Given the description of an element on the screen output the (x, y) to click on. 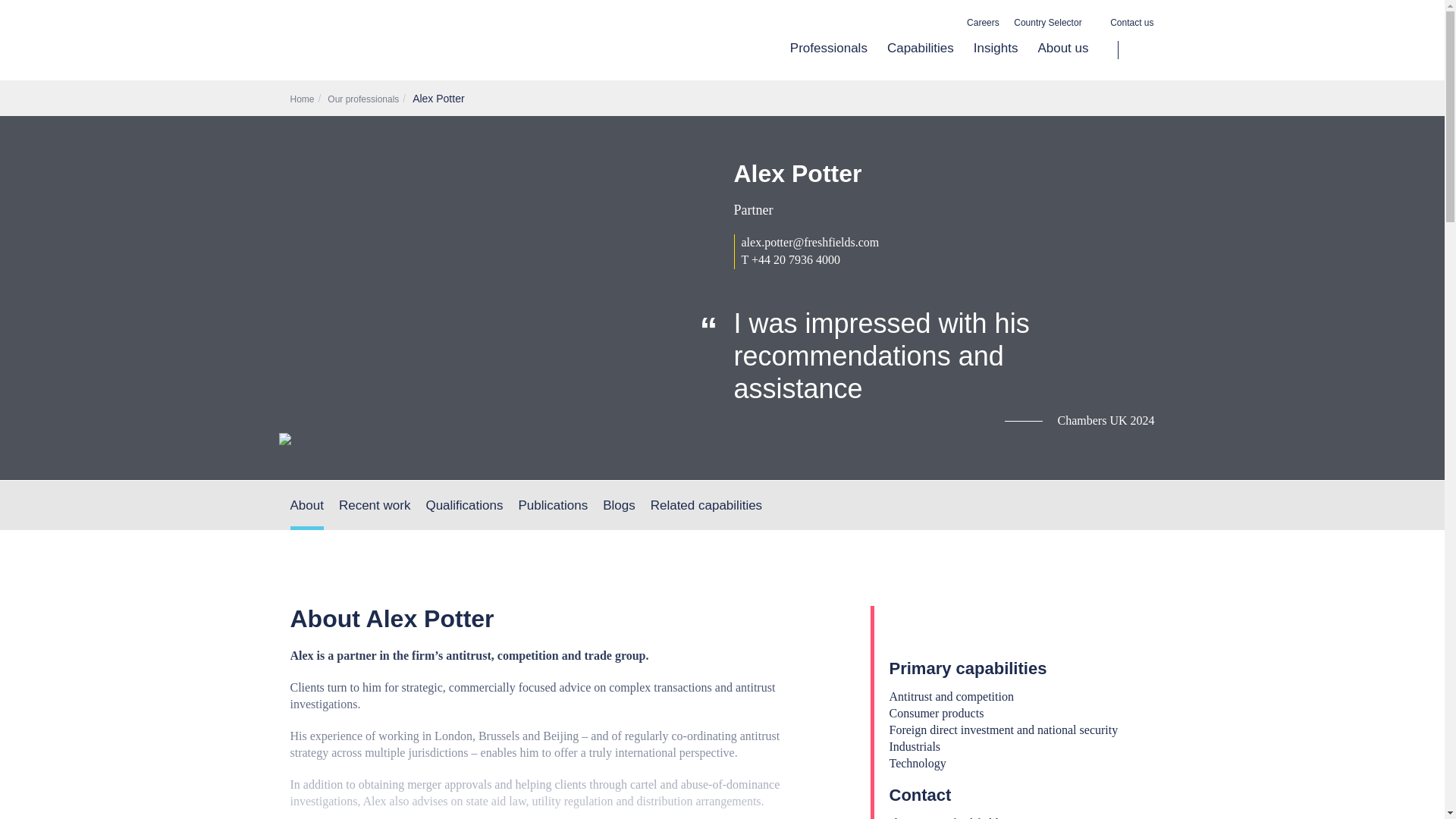
Freshfields Bruckhaus Deringer (423, 46)
Careers (982, 22)
About us (1057, 59)
Insights (995, 59)
Capabilities (920, 59)
Careers (982, 22)
Country Selector (1053, 22)
Professionals (828, 59)
Contact us (1131, 22)
Search (1136, 49)
